Given the description of an element on the screen output the (x, y) to click on. 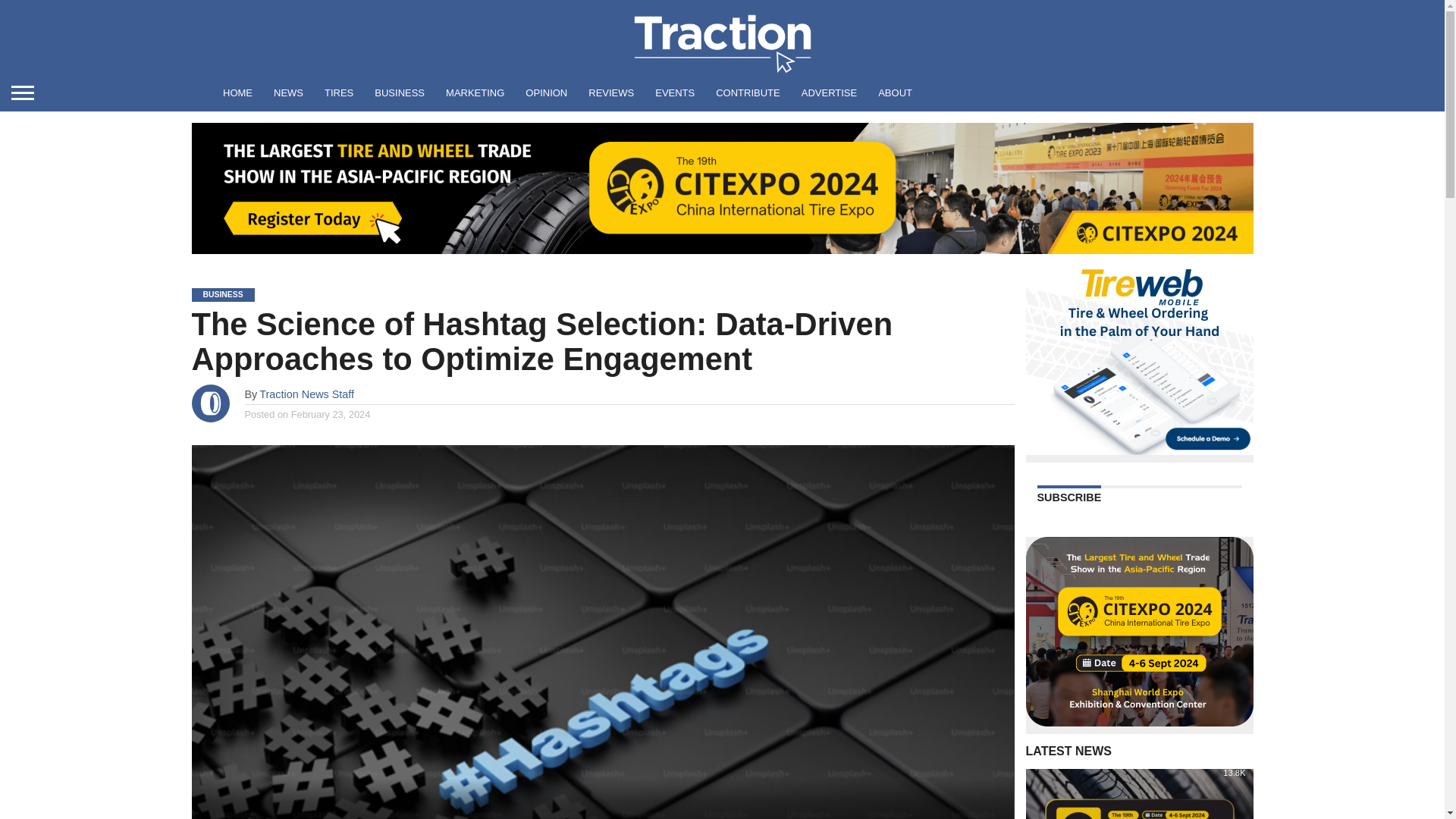
BUSINESS (399, 92)
HOME (237, 92)
NEWS (288, 92)
Posts by Traction News Staff (306, 394)
TIRES (339, 92)
MARKETING (475, 92)
